Given the description of an element on the screen output the (x, y) to click on. 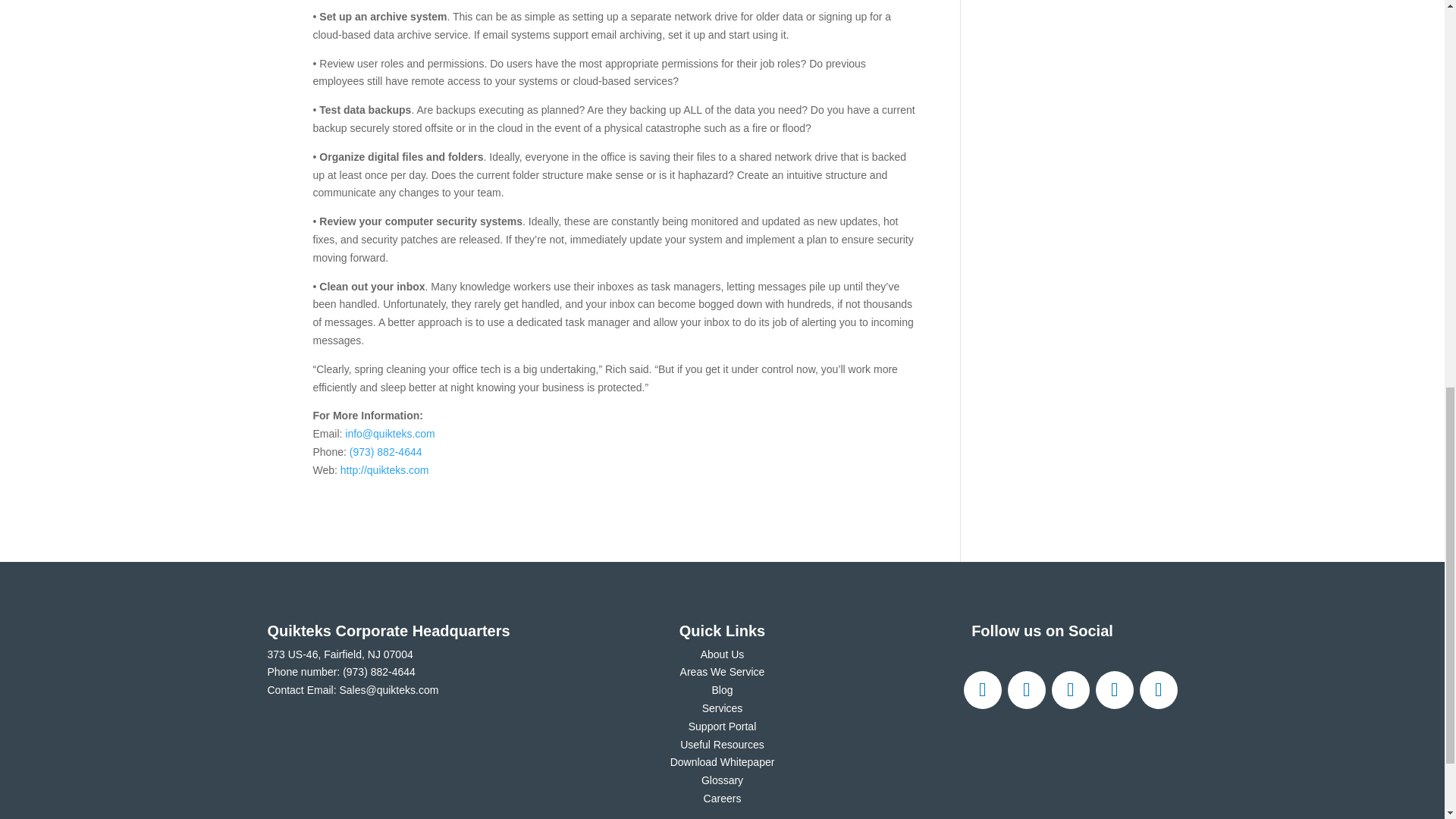
Follow on Instagram (1070, 689)
Follow on Facebook (981, 689)
Follow on X (1026, 689)
Areas We Service (722, 671)
Follow on Youtube (1157, 689)
Blog (721, 689)
373 US-46, Fairfield, NJ 07004 (339, 654)
Follow on LinkedIn (1113, 689)
About Us (722, 654)
Services (721, 707)
